Given the description of an element on the screen output the (x, y) to click on. 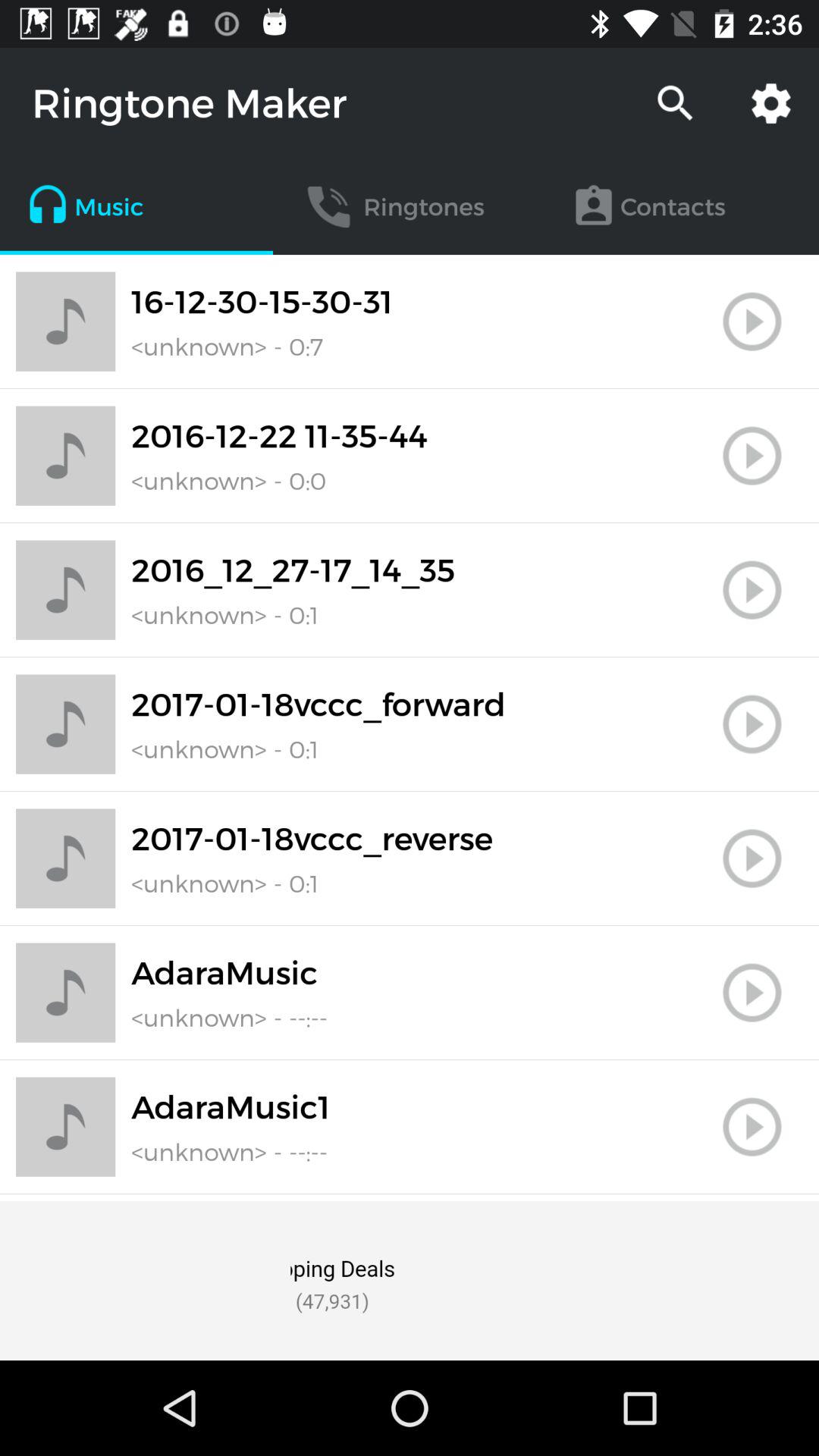
play audio (752, 590)
